Given the description of an element on the screen output the (x, y) to click on. 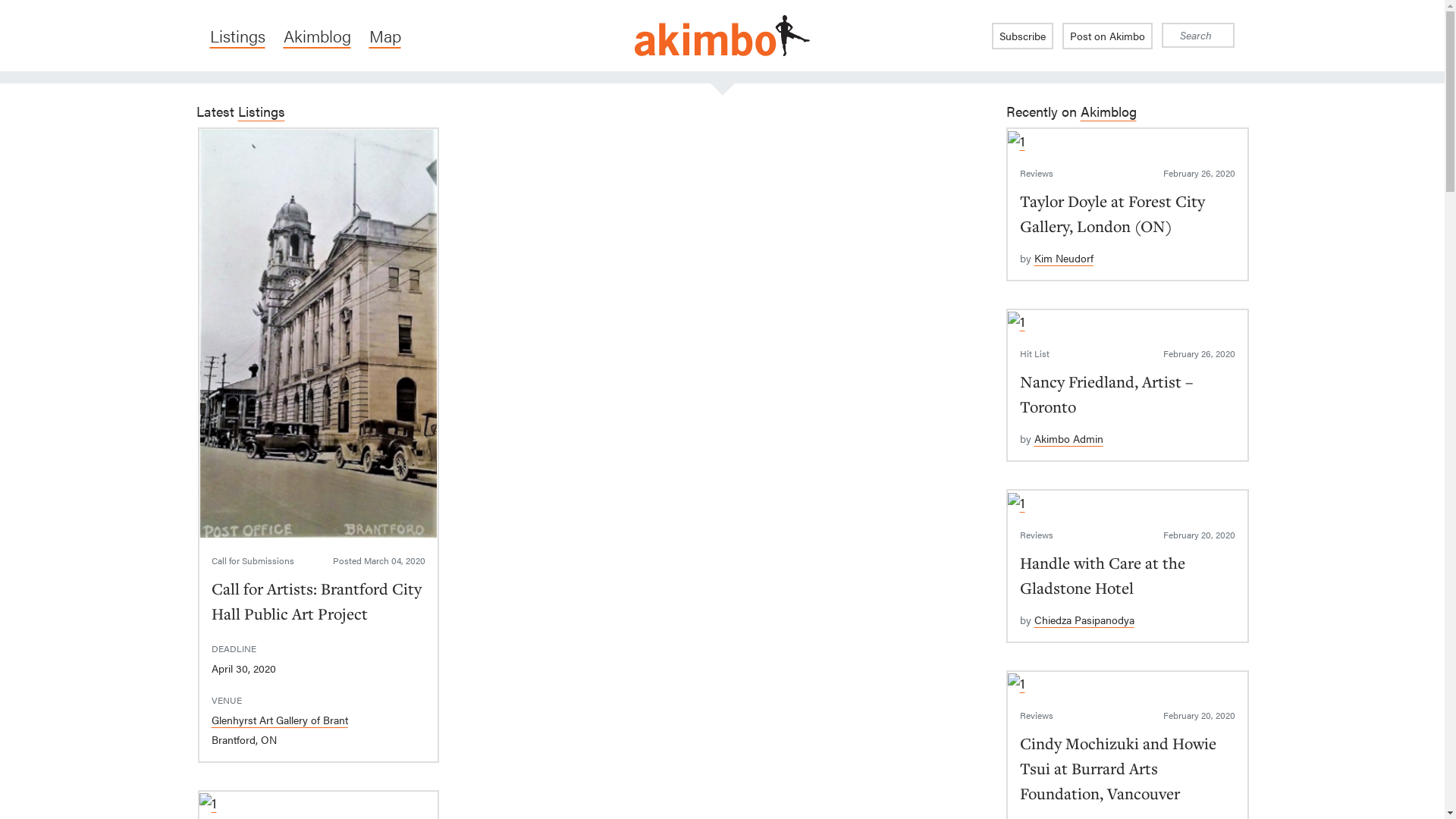
1 Element type: hover (317, 332)
Call for Artists: Brantford City Hall Public Art Project Element type: text (315, 600)
Subscribe Element type: text (1022, 35)
Taylor Doyle at Forest City Gallery, London (ON) Element type: text (1111, 213)
Kim Neudorf Element type: text (1063, 257)
Reviews Element type: text (1035, 534)
1 Element type: hover (1015, 502)
Hit List Element type: text (1033, 353)
Akimblog Element type: text (1107, 110)
Post on Akimbo Element type: text (1107, 35)
Reviews Element type: text (1035, 714)
Akimblog Element type: text (317, 35)
1 Element type: hover (1015, 321)
Handle with Care at the Gladstone Hotel Element type: text (1101, 575)
Listings Element type: text (236, 35)
Akimbo Admin Element type: text (1068, 437)
Glenhyrst Art Gallery of Brant Element type: text (278, 719)
Reviews Element type: text (1035, 172)
1 Element type: hover (207, 802)
Map Element type: text (384, 35)
Call for Submissions Element type: text (251, 560)
Listings Element type: text (261, 110)
1 Element type: hover (1015, 683)
1 Element type: hover (1015, 140)
Chiedza Pasipanodya Element type: text (1084, 619)
